Given the description of an element on the screen output the (x, y) to click on. 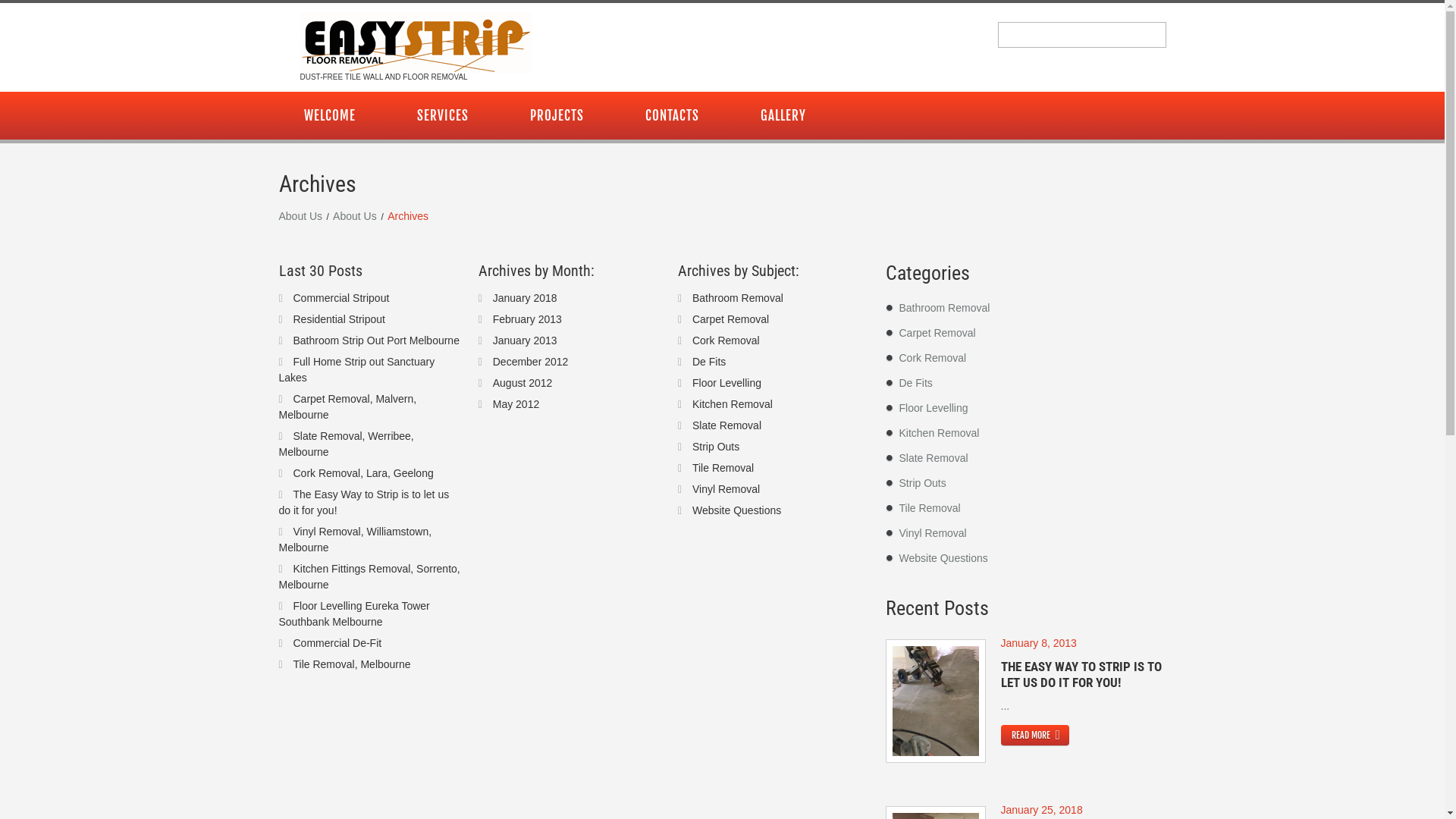
January 2013 Element type: text (524, 339)
Kitchen Removal Element type: text (732, 403)
Floor Levelling Element type: text (726, 382)
twitter Element type: hover (1133, 116)
Bathroom Removal Element type: text (737, 297)
linkedin Element type: hover (1165, 116)
December 2012 Element type: text (530, 360)
Residential Stripout Element type: text (338, 318)
May 2012 Element type: text (515, 403)
Full Home Strip out Sanctuary Lakes Element type: text (357, 368)
The Easy Way to Strip is to let us do it for you! Element type: text (364, 502)
Floor Levelling Element type: text (933, 407)
Website Questions Element type: text (736, 509)
pinterest Element type: hover (1154, 116)
About Us Element type: text (301, 215)
Strip Outs Element type: text (922, 482)
Tile Removal Element type: text (722, 467)
January 2018 Element type: text (524, 297)
Cork Removal Element type: text (932, 357)
WELCOME Element type: text (329, 115)
Carpet Removal Element type: text (937, 332)
google Element type: hover (1122, 116)
Commercial De-Fit Element type: text (336, 643)
Floor Levelling Eureka Tower Southbank Melbourne Element type: text (354, 613)
Slate Removal, Werribee, Melbourne Element type: text (346, 443)
CONTACTS Element type: text (672, 115)
De Fits Element type: text (708, 360)
Slate Removal Element type: text (933, 457)
Slate Removal Element type: text (726, 424)
Strip Outs Element type: text (715, 445)
Tile Removal Element type: text (929, 508)
Kitchen Fittings Removal, Sorrento, Melbourne Element type: text (369, 576)
Dust-free Tile Wall and Floor Removal Element type: hover (416, 42)
Cork Removal, Lara, Geelong Element type: text (362, 473)
SERVICES Element type: text (441, 115)
READ MORE Element type: text (1035, 734)
Carpet Removal Element type: text (730, 318)
Bathroom Removal Element type: text (944, 307)
Carpet Removal, Malvern, Melbourne Element type: text (348, 406)
February 2013 Element type: text (526, 318)
De Fits Element type: text (915, 382)
Vinyl Removal, Williamstown, Melbourne Element type: text (355, 538)
Vinyl Removal Element type: text (725, 488)
August 2012 Element type: text (522, 382)
The Easy Way to Strip is to let us do it for you! Element type: hover (934, 701)
facebook Element type: hover (1144, 116)
Vinyl Removal Element type: text (932, 533)
Website Questions Element type: text (943, 558)
Kitchen Removal Element type: text (939, 432)
Tile Removal, Melbourne Element type: text (351, 664)
Bathroom Strip Out Port Melbourne Element type: text (375, 339)
Commercial Stripout Element type: text (340, 297)
About Us Element type: text (354, 215)
GALLERY Element type: text (783, 115)
Cork Removal Element type: text (725, 339)
THE EASY WAY TO STRIP IS TO LET US DO IT FOR YOU! Element type: text (1081, 673)
PROJECTS Element type: text (556, 115)
